Given the description of an element on the screen output the (x, y) to click on. 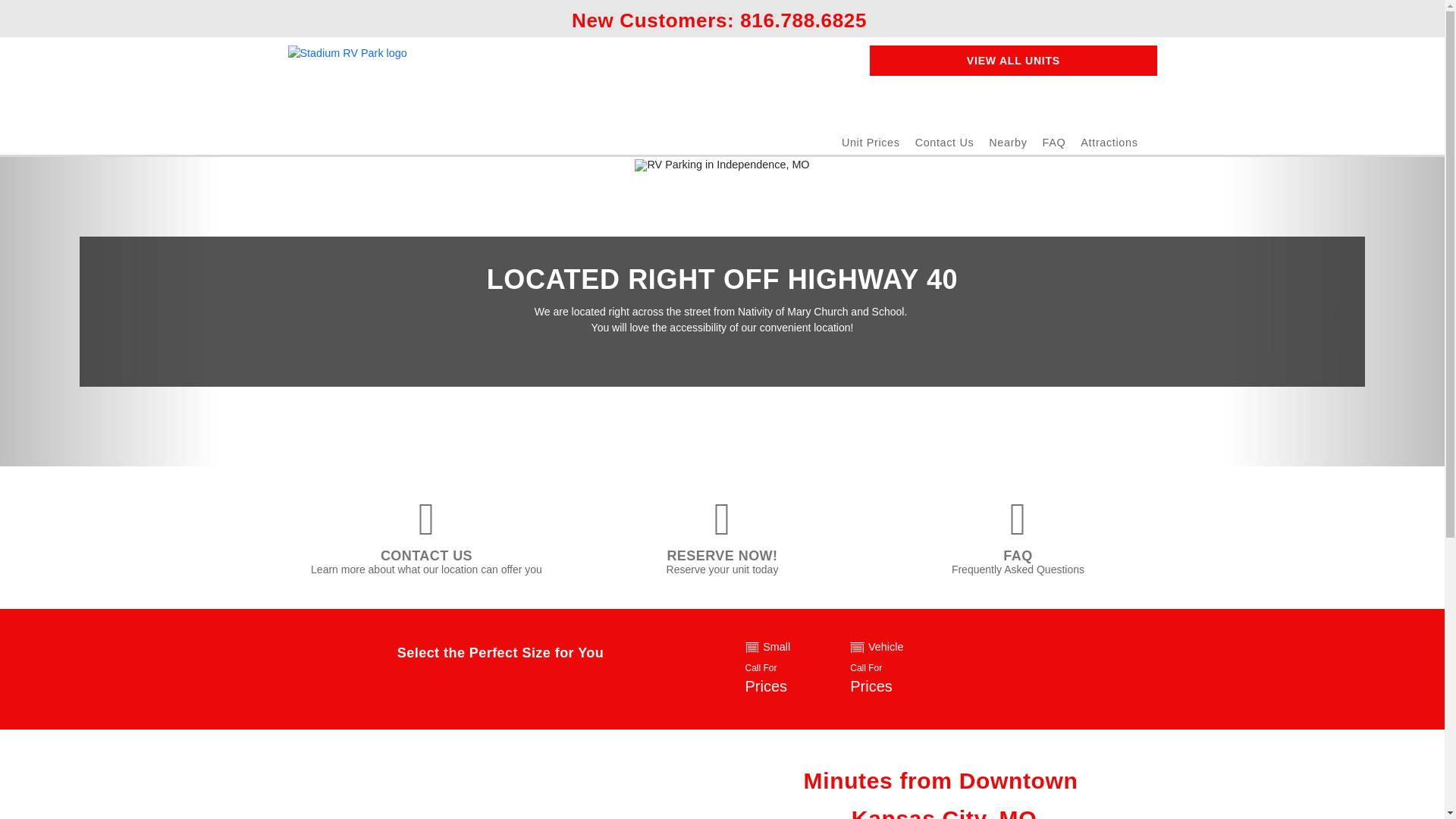
RV Parking in Independence, MO (785, 668)
FAQ (721, 164)
Stadium RV Park logo (1053, 142)
Nearby (347, 83)
816.788.6825 (1007, 142)
CONTACT US (802, 20)
Attractions (891, 668)
VIEW ALL UNITS (425, 555)
